Given the description of an element on the screen output the (x, y) to click on. 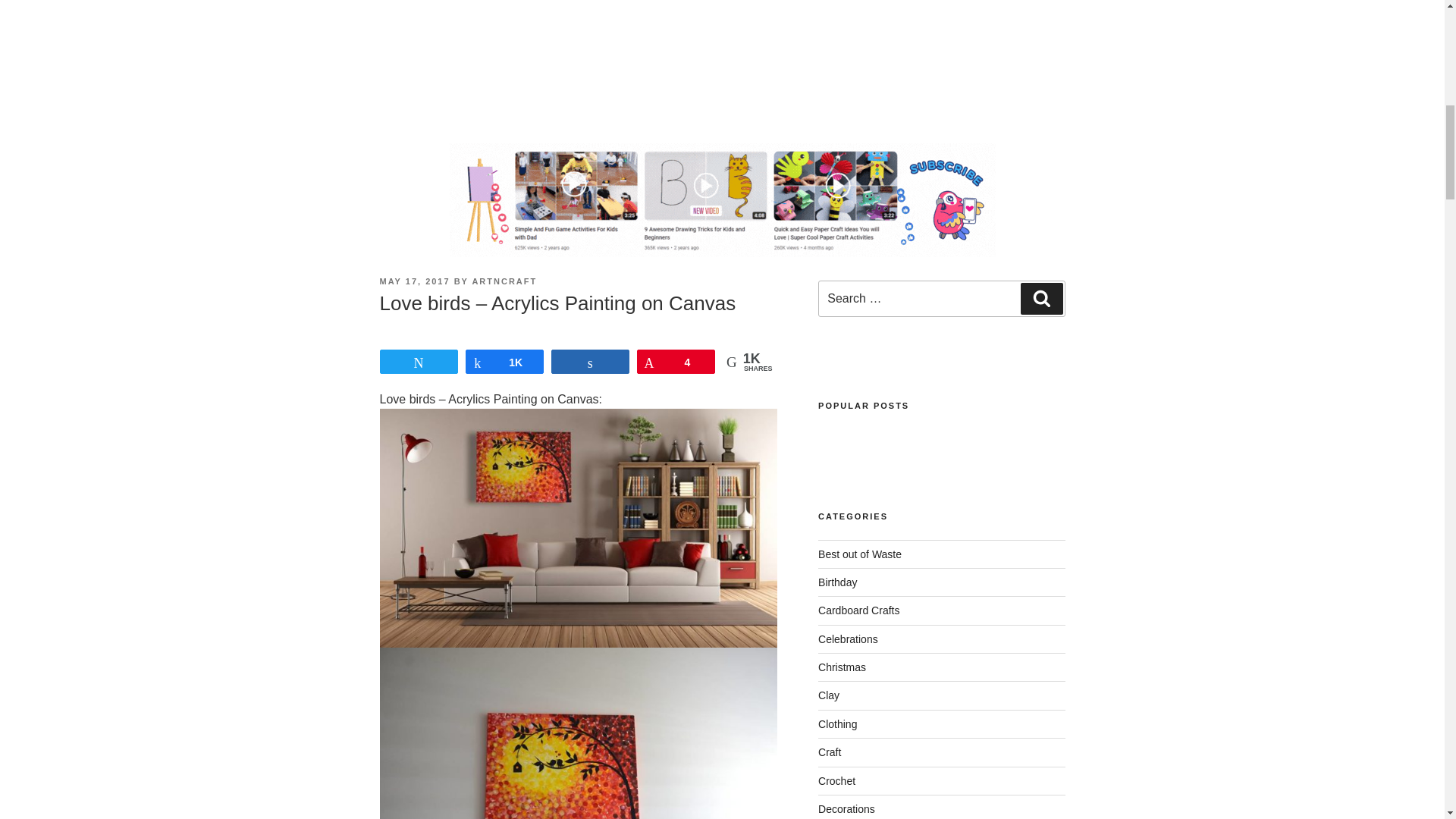
1K (504, 361)
Advertisement (721, 62)
4 (675, 361)
ARTNCRAFT (504, 280)
MAY 17, 2017 (413, 280)
